Given the description of an element on the screen output the (x, y) to click on. 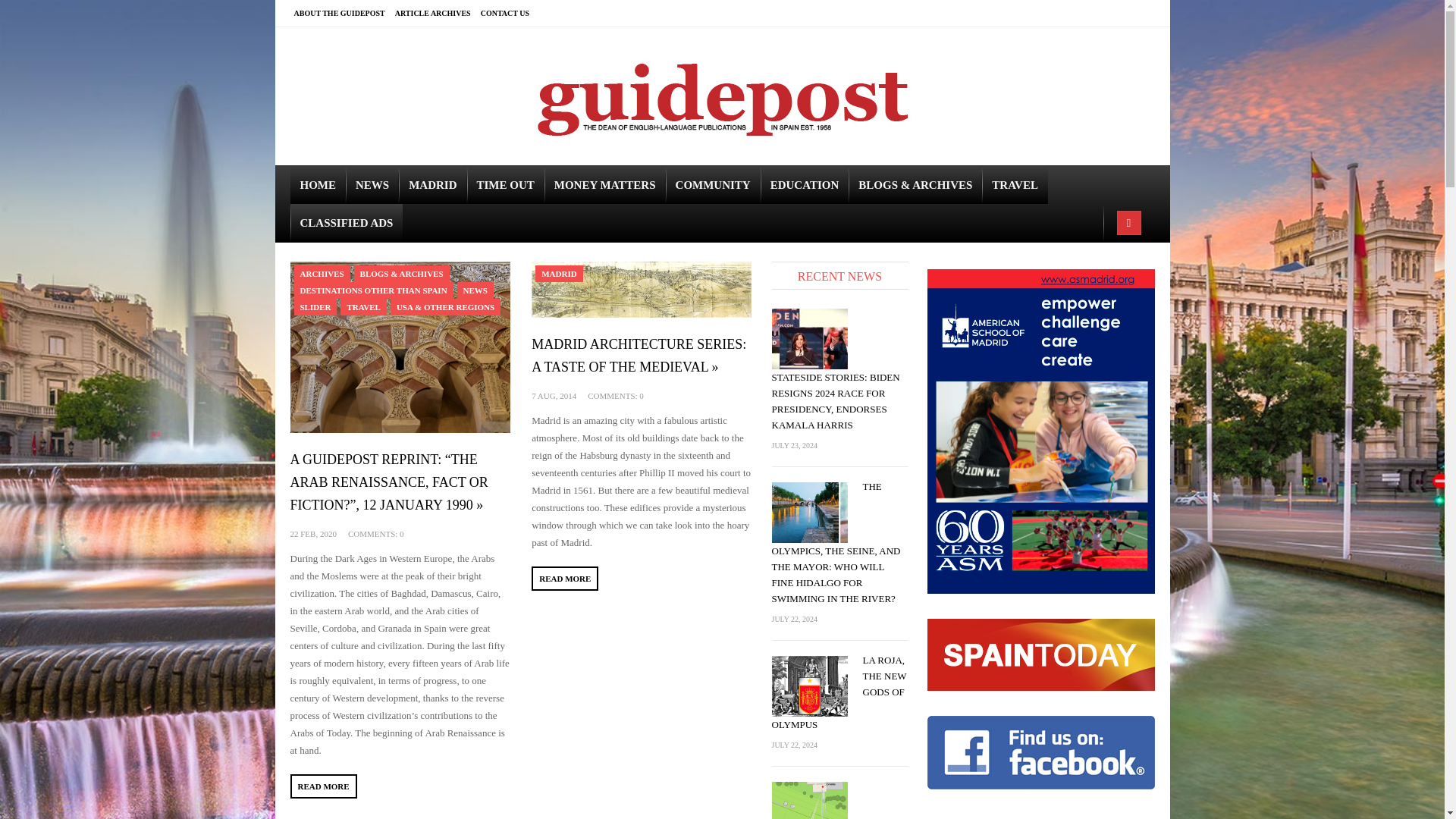
MONEY MATTERS (604, 184)
CLASSIFIED ADS (346, 222)
Destinations Other Than Spain, 'my-text-domain' (373, 289)
ABOUT THE GUIDEPOST (344, 13)
Travel, 'my-text-domain' (362, 306)
slider, 'my-text-domain' (315, 306)
TRAVEL (362, 306)
MADRID ARCHITECTURE Series: A TASTE OF THE MEDIEVAL (641, 289)
COMMUNITY (712, 184)
SLIDER (315, 306)
ARCHIVES (322, 273)
DESTINATIONS OTHER THAN SPAIN (373, 289)
TRAVEL (1014, 184)
NEWS (475, 289)
MADRID (431, 184)
